Given the description of an element on the screen output the (x, y) to click on. 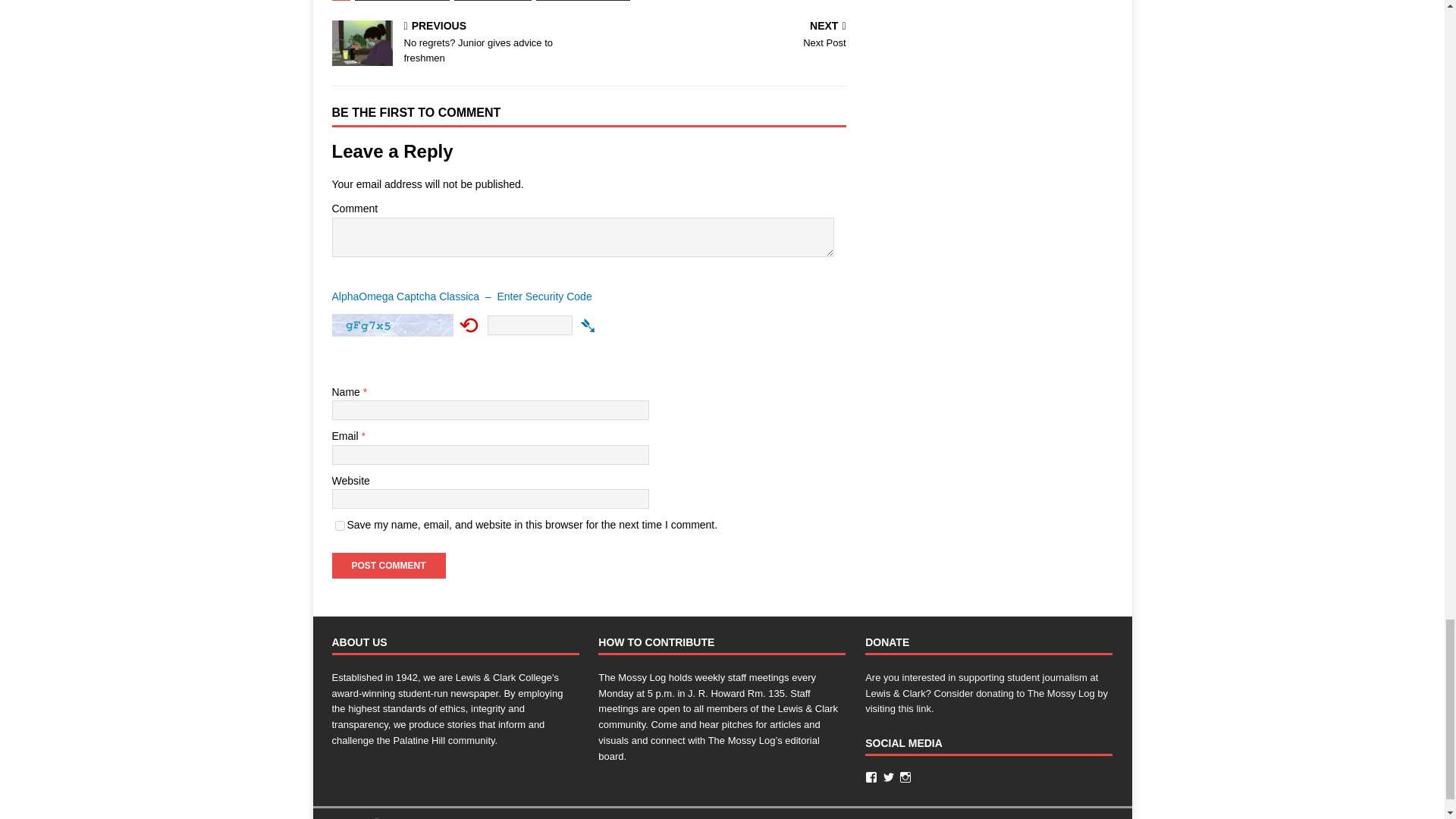
yes (339, 525)
 Reload AlphaOmega Captcha  (468, 324)
 Checkout the AlphaOmega Captcha Plugin at WordPress.org  (588, 324)
Post Comment (388, 565)
 Checkout the AlphaOmega Captcha Plugin at WordPress.org  (588, 299)
